Given the description of an element on the screen output the (x, y) to click on. 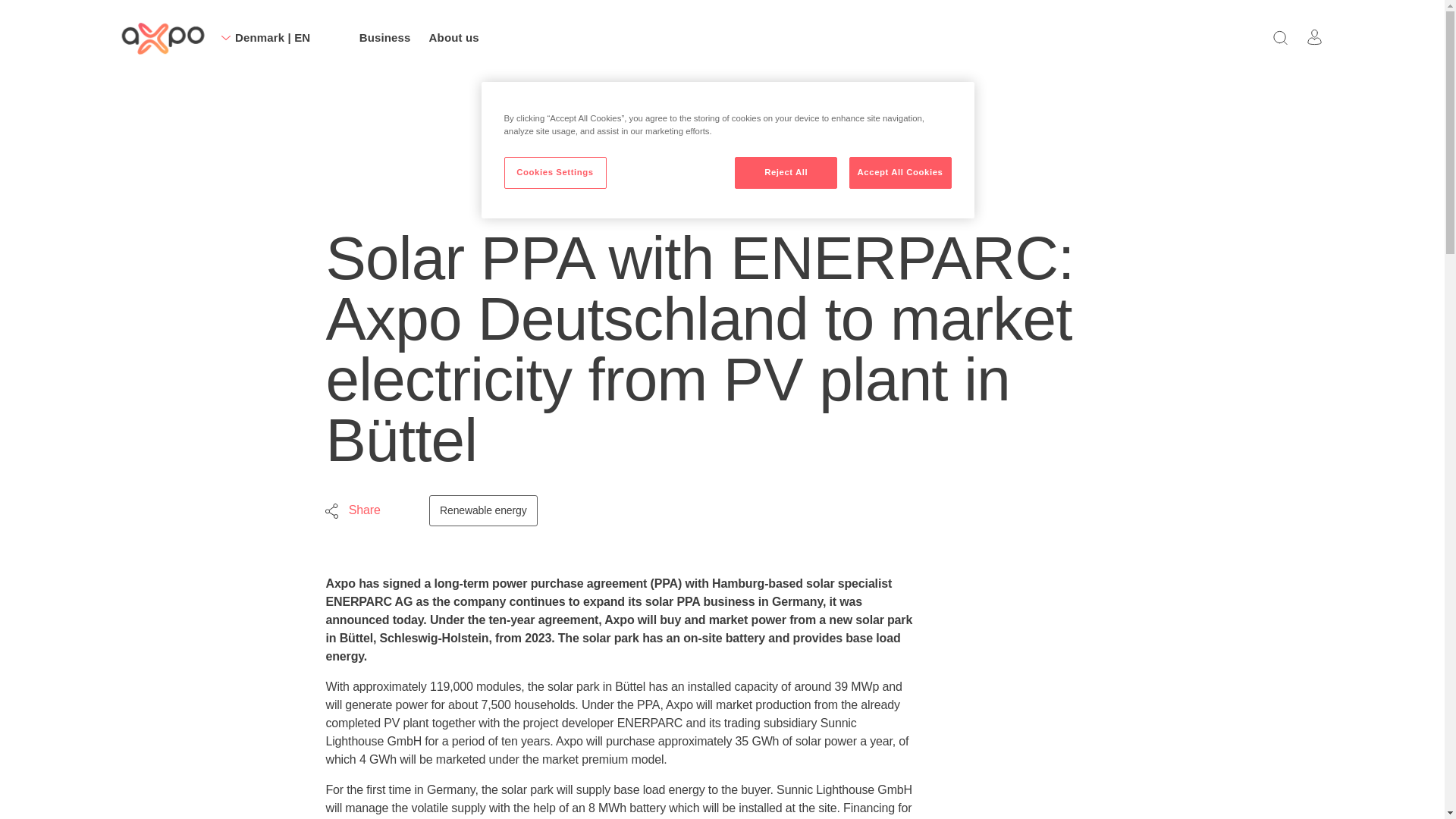
Business (384, 37)
Renewable energy (483, 511)
About us (454, 37)
Customer Portal (1314, 36)
Toggle Search Form (1279, 36)
